Given the description of an element on the screen output the (x, y) to click on. 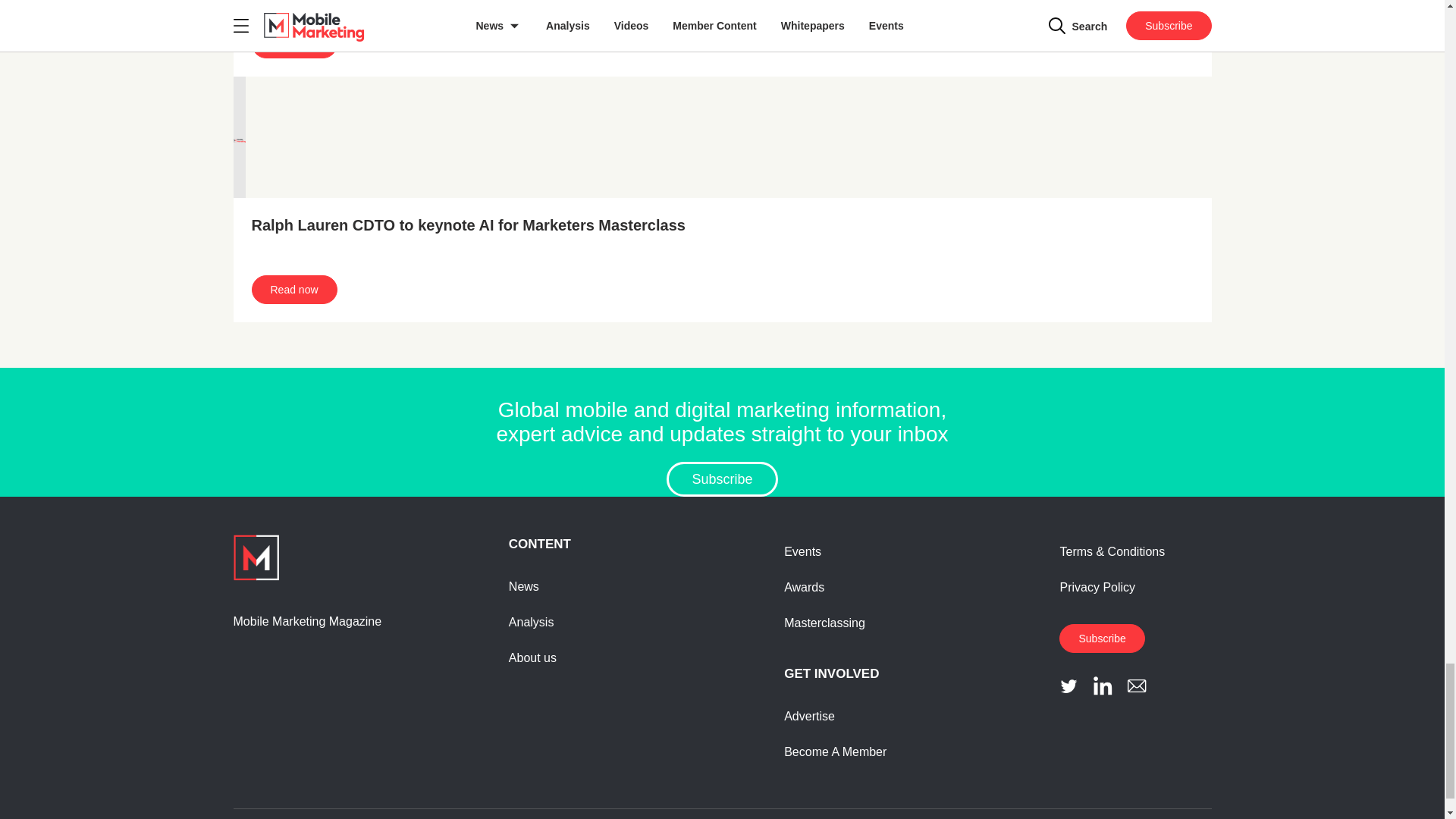
Twitter icon (1068, 685)
